Given the description of an element on the screen output the (x, y) to click on. 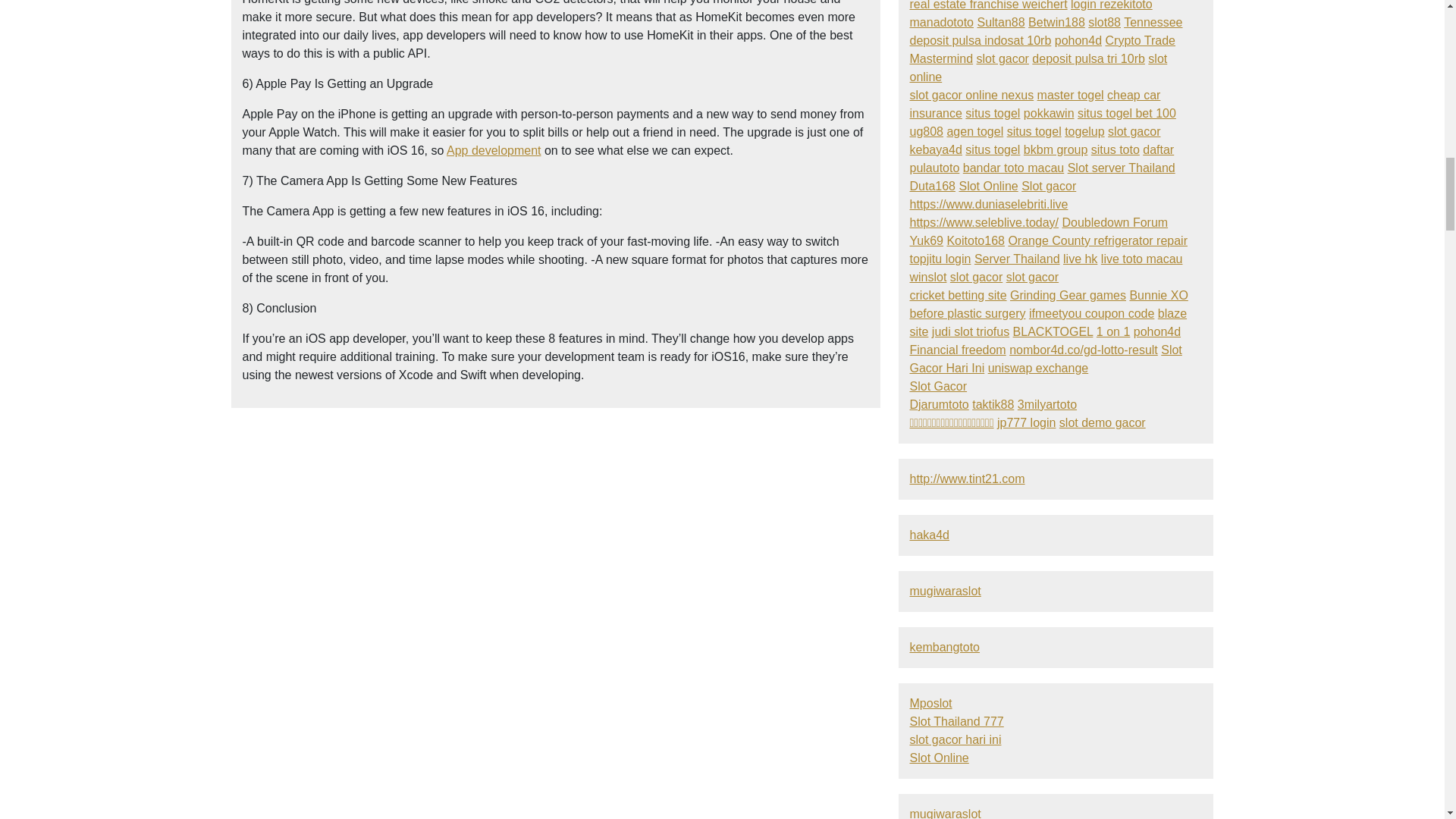
App development (493, 150)
